Given the description of an element on the screen output the (x, y) to click on. 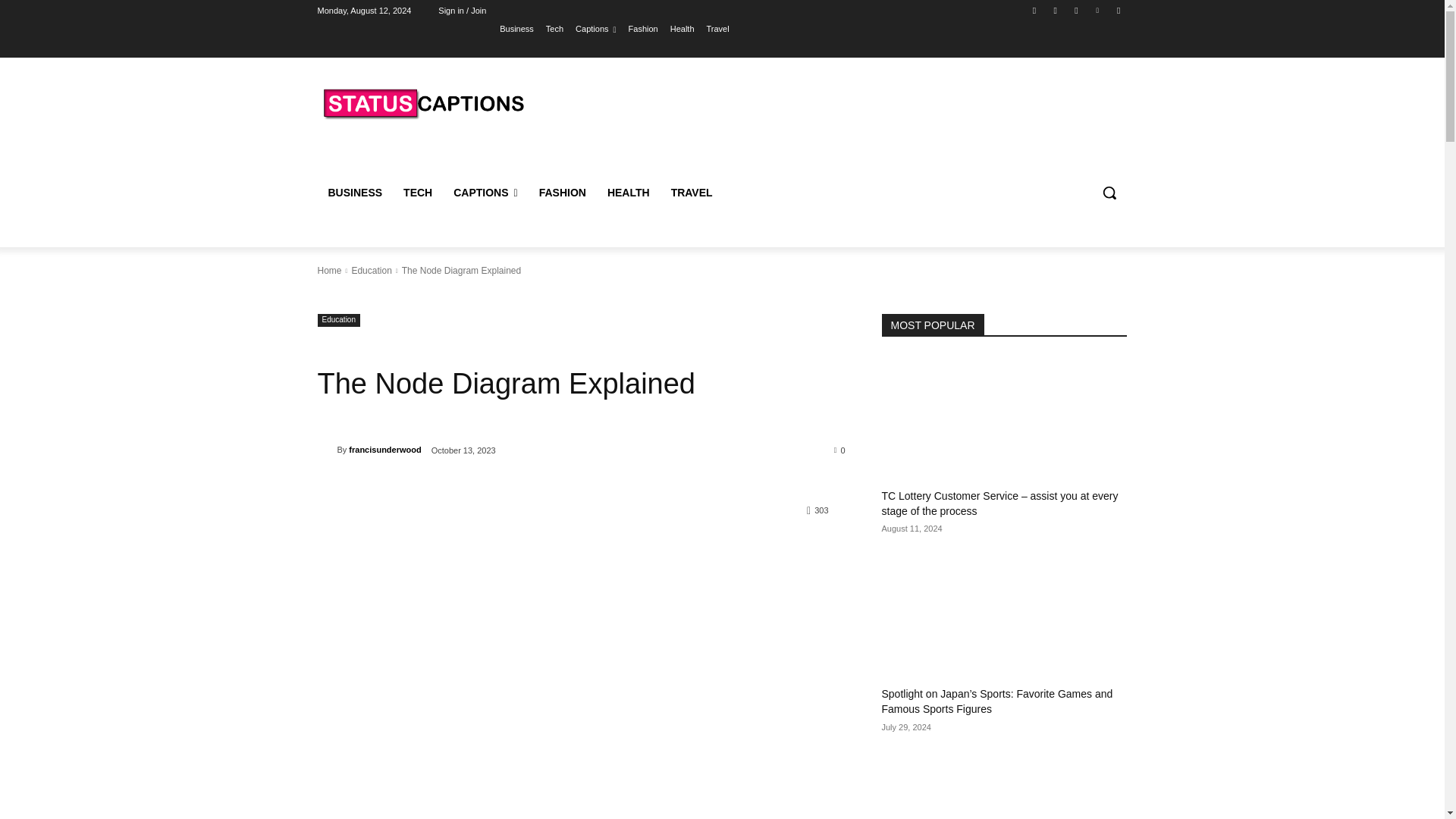
TRAVEL (692, 192)
Instagram (1055, 9)
Travel (717, 28)
Twitter (1075, 9)
HEALTH (628, 192)
TECH (417, 192)
Health (681, 28)
Facebook (1034, 9)
Vimeo (1097, 9)
Fashion (643, 28)
